Given the description of an element on the screen output the (x, y) to click on. 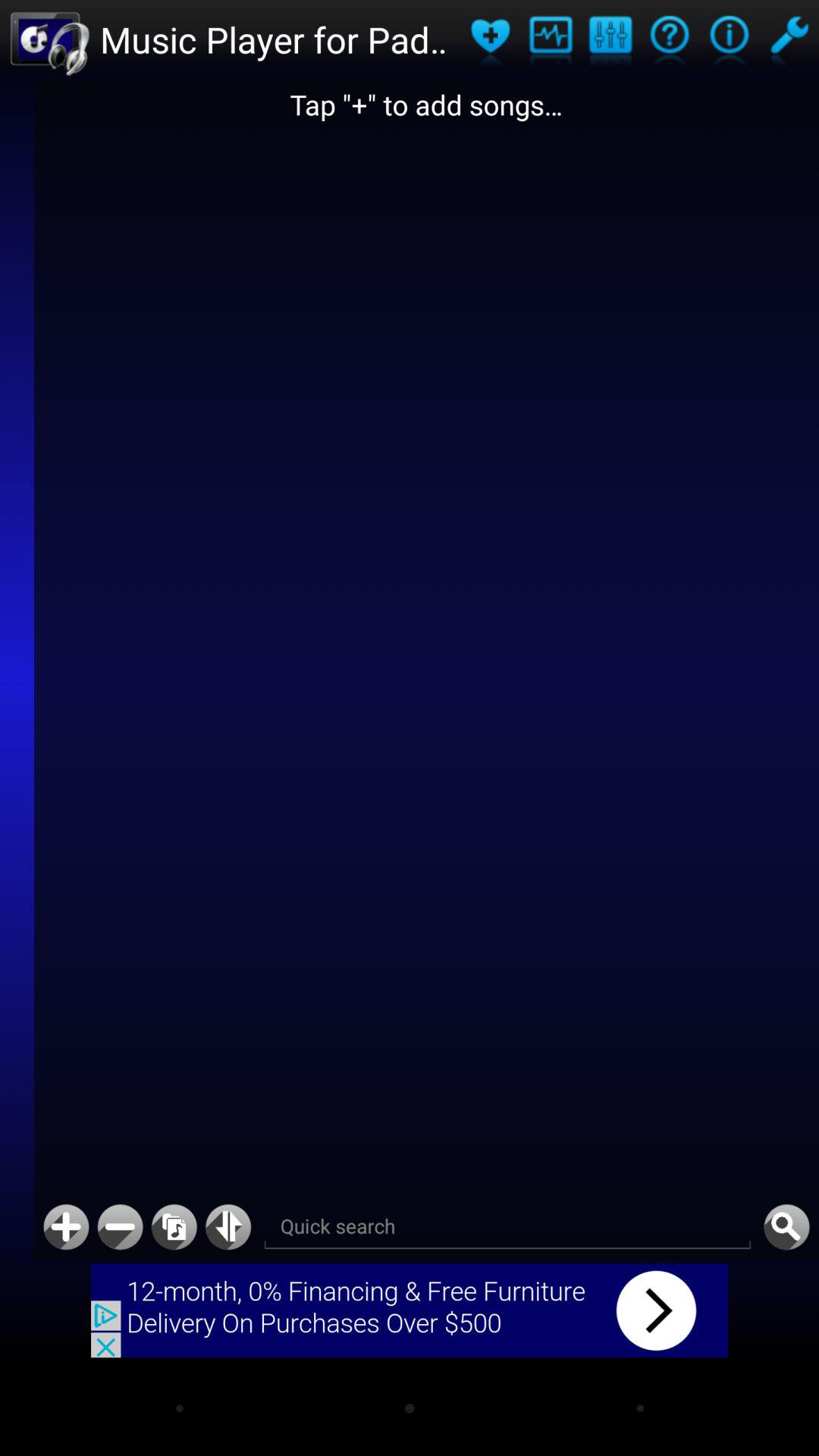
add song (66, 1226)
